Given the description of an element on the screen output the (x, y) to click on. 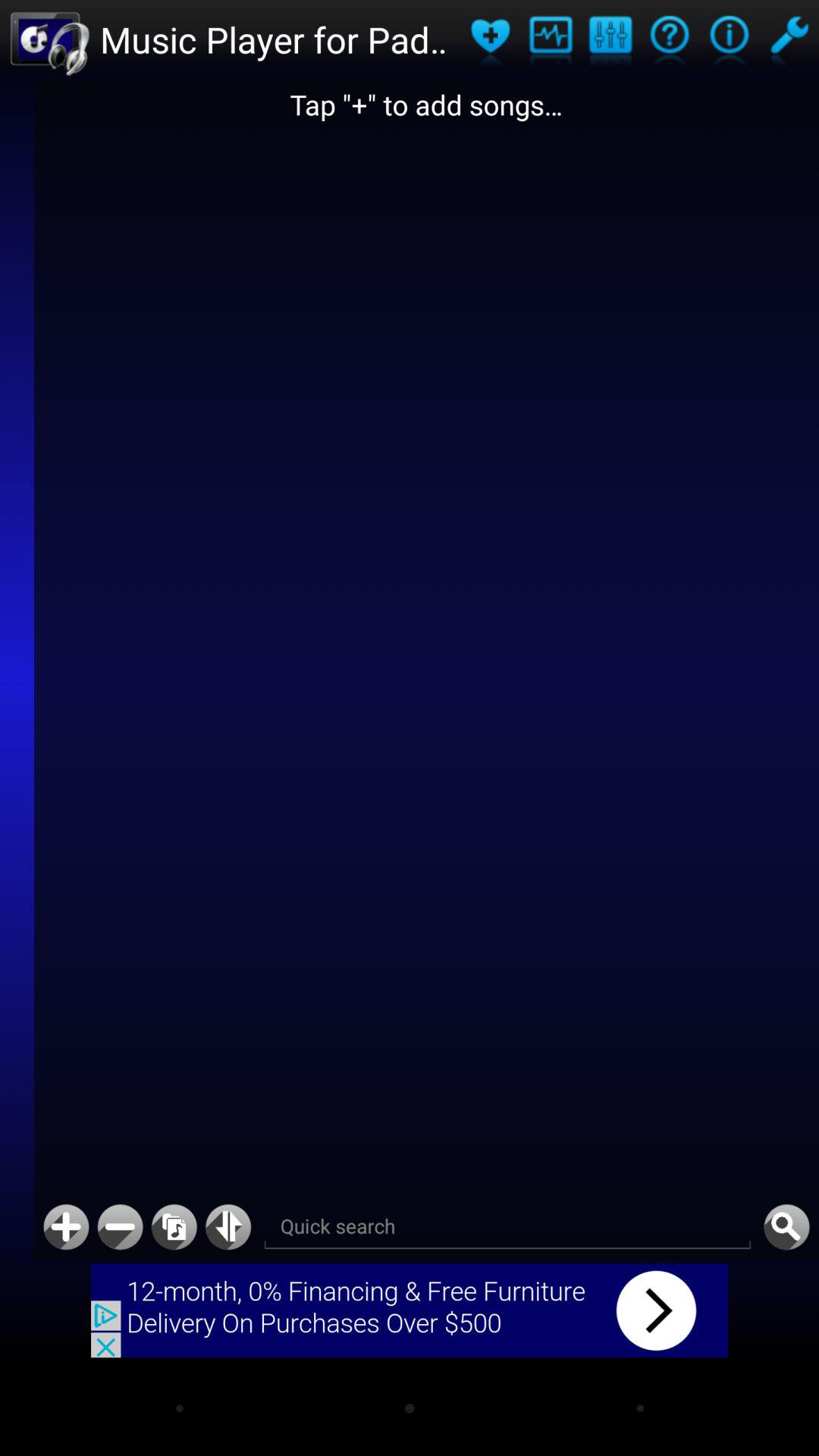
add song (66, 1226)
